Given the description of an element on the screen output the (x, y) to click on. 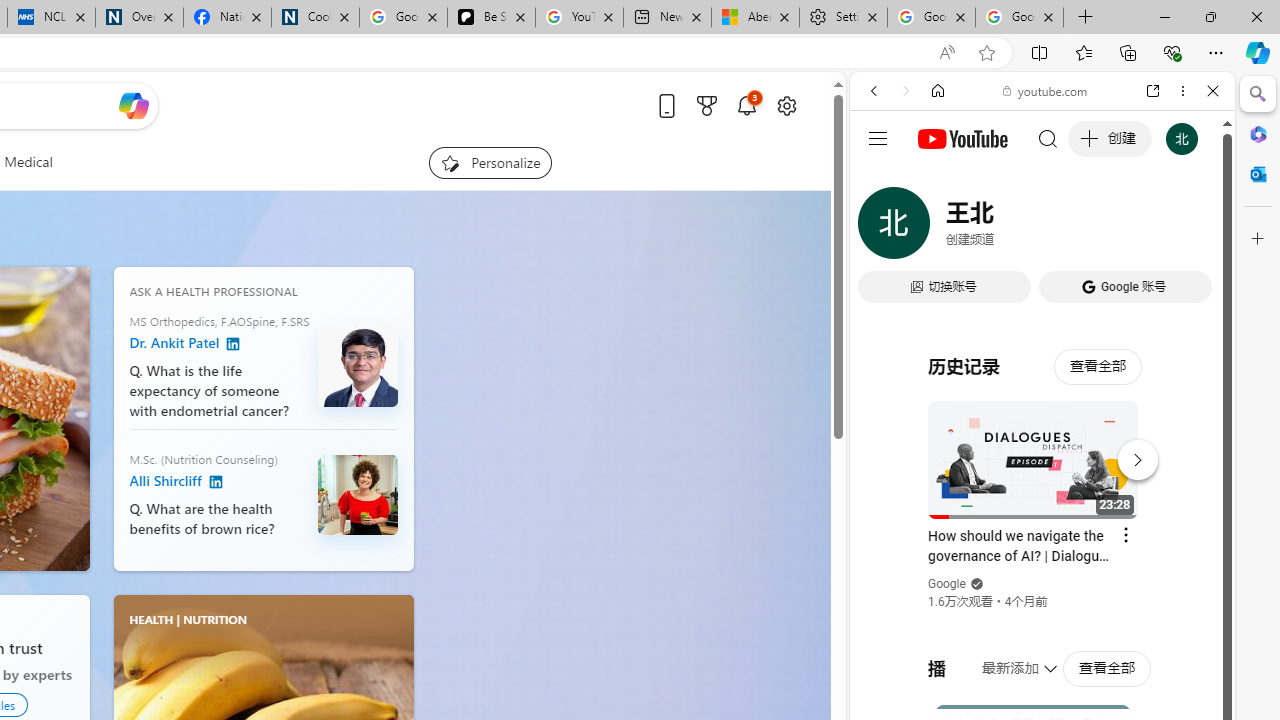
WEB   (882, 228)
This site scope (936, 180)
Show More Music (1164, 546)
IMAGES (939, 228)
Google (947, 584)
Trailer #2 [HD] (1042, 594)
VIDEOS (1006, 228)
Forward (906, 91)
Dr. Ankit Patel (233, 344)
